Given the description of an element on the screen output the (x, y) to click on. 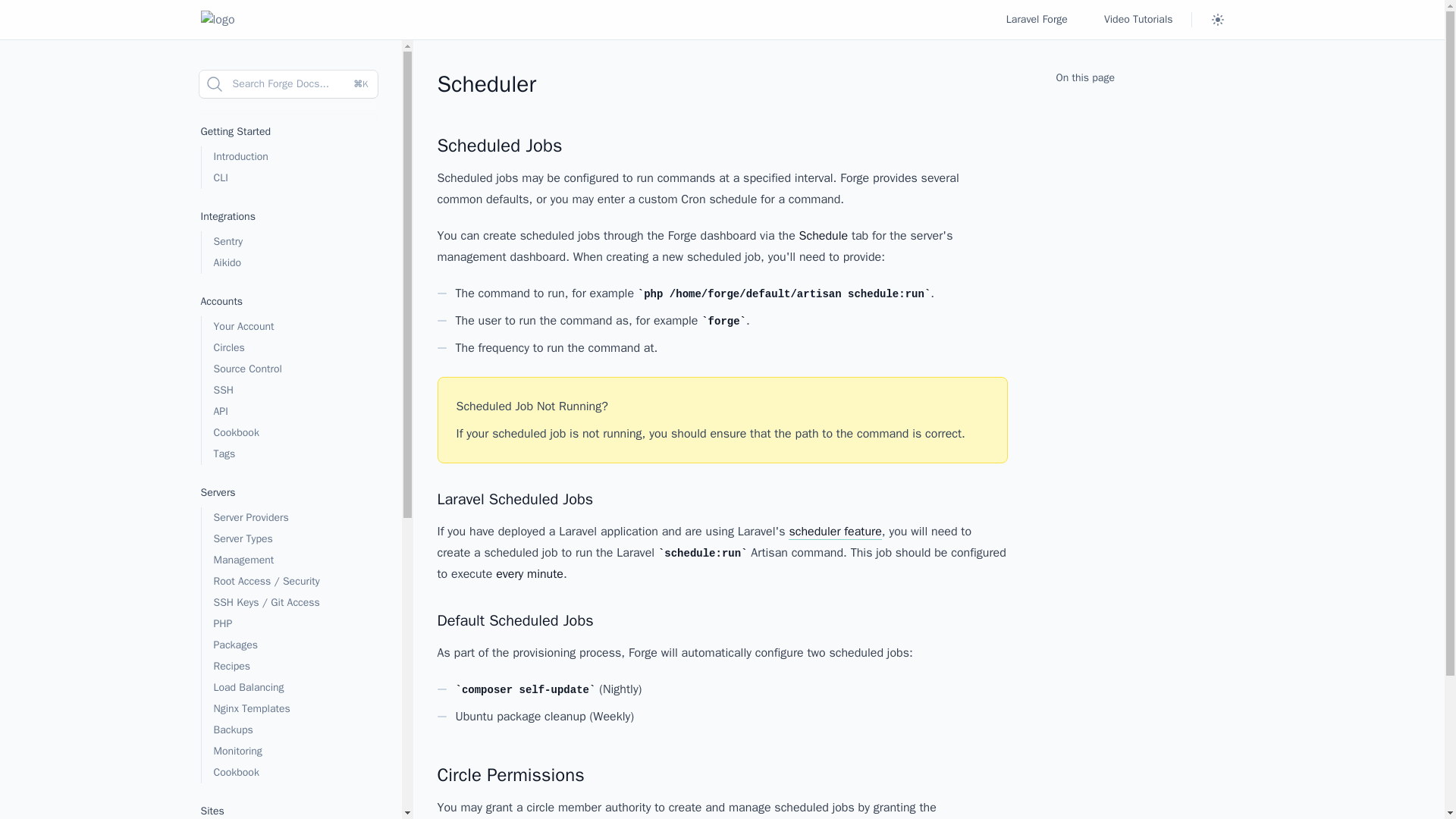
Video Tutorials (1138, 19)
Circles (288, 347)
Laravel Forge (1036, 19)
Server Providers (288, 517)
Server Types (288, 538)
Source Control (288, 369)
API (288, 411)
Cookbook (288, 432)
CLI (288, 178)
Sentry (288, 241)
Load Balancing (288, 687)
Packages (288, 645)
Recipes (288, 666)
Management (288, 559)
SSH (288, 390)
